Given the description of an element on the screen output the (x, y) to click on. 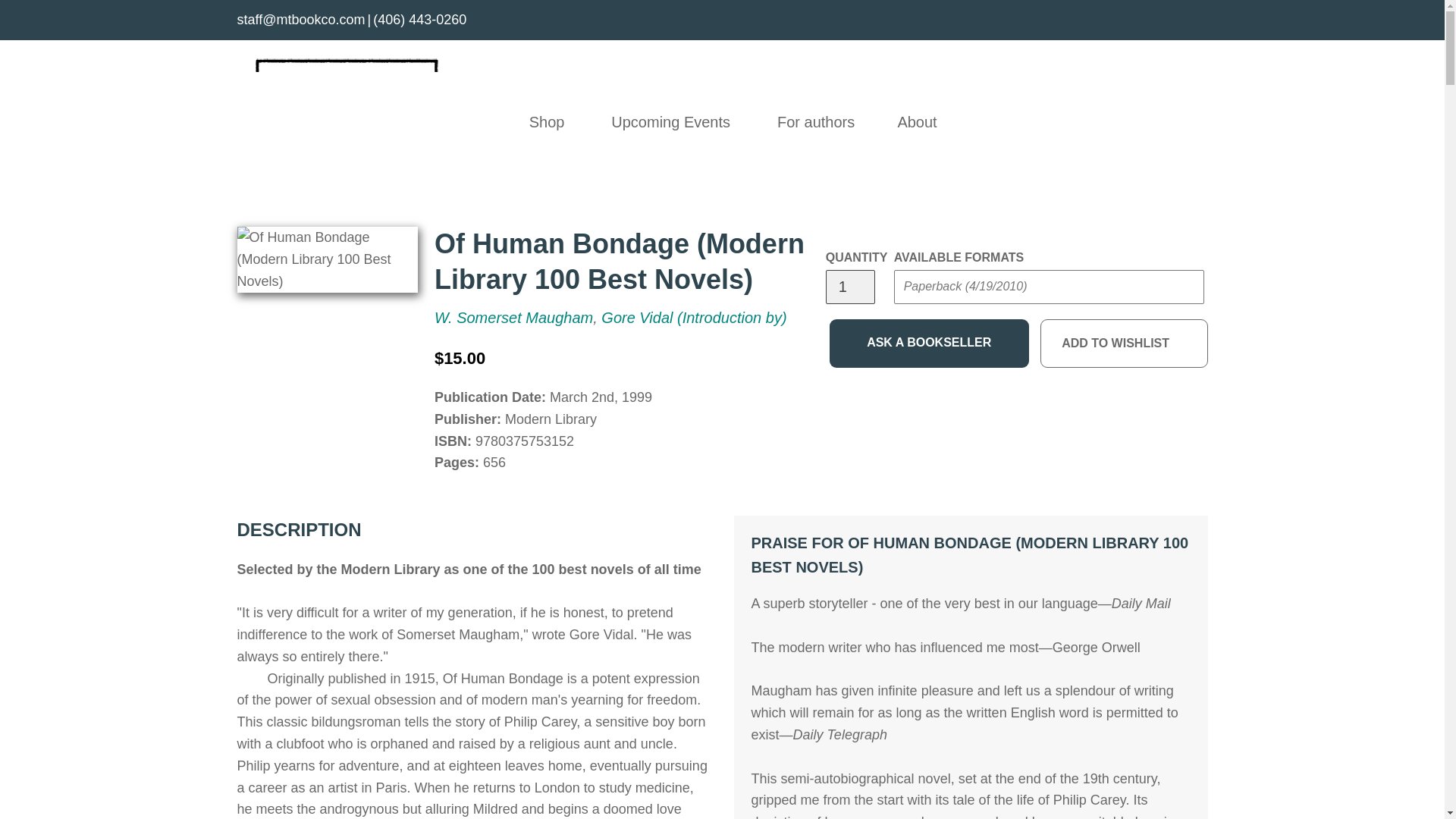
For authors (815, 121)
Log in (1134, 121)
Cart (1200, 121)
W. Somerset Maugham (512, 317)
Wishlists (1168, 121)
Cart (1200, 121)
Connect with Instagram (1198, 23)
Wishlist (1168, 121)
Log in (1134, 121)
